Given the description of an element on the screen output the (x, y) to click on. 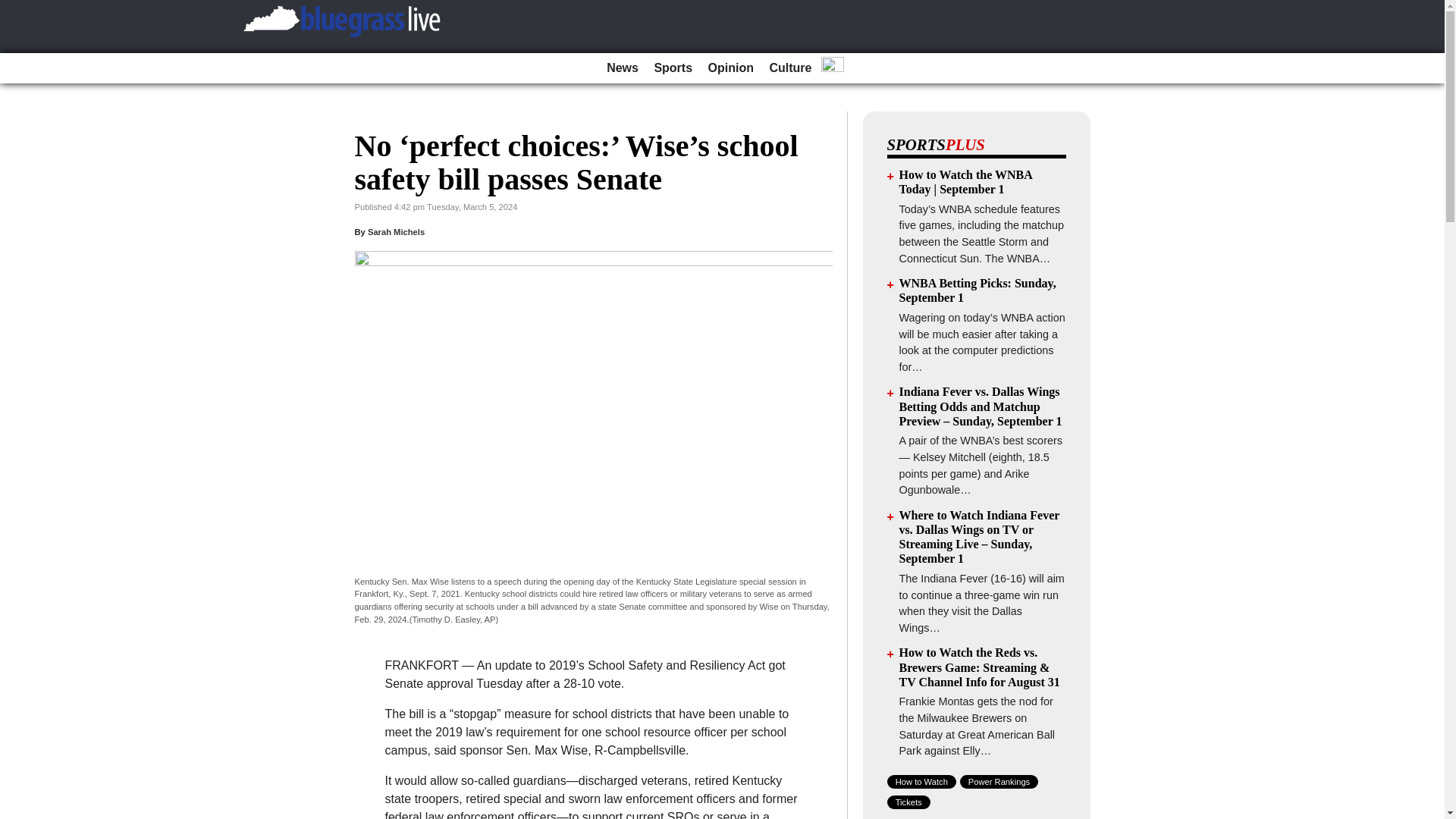
Culture (789, 68)
Opinion (730, 68)
WNBA Betting Picks: Sunday, September 1 (978, 289)
Go (13, 9)
Power Rankings (999, 781)
Tickets (908, 802)
Sarah Michels (396, 231)
Sports (672, 68)
News (622, 68)
How to Watch (921, 781)
